Given the description of an element on the screen output the (x, y) to click on. 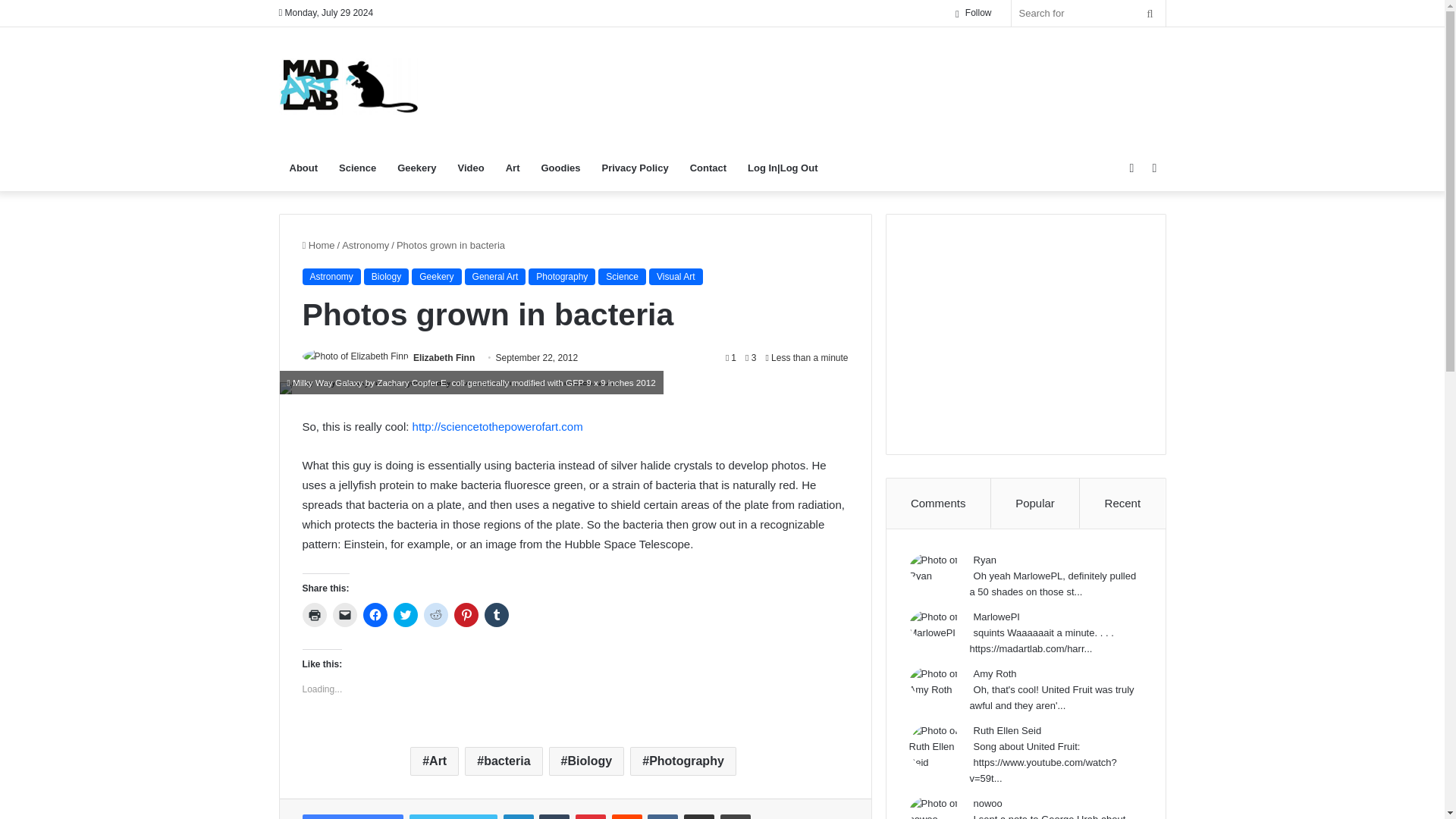
Privacy Policy (635, 167)
Art (434, 760)
LinkedIn (518, 816)
Goodies (560, 167)
Visual Art (675, 276)
Pinterest (590, 816)
Click to share on Reddit (434, 614)
Tumblr (553, 816)
Elizabeth Finn (443, 357)
Geekery (416, 167)
Facebook (352, 816)
Photography (561, 276)
Science (358, 167)
Geekery (436, 276)
Elizabeth Finn (443, 357)
